Given the description of an element on the screen output the (x, y) to click on. 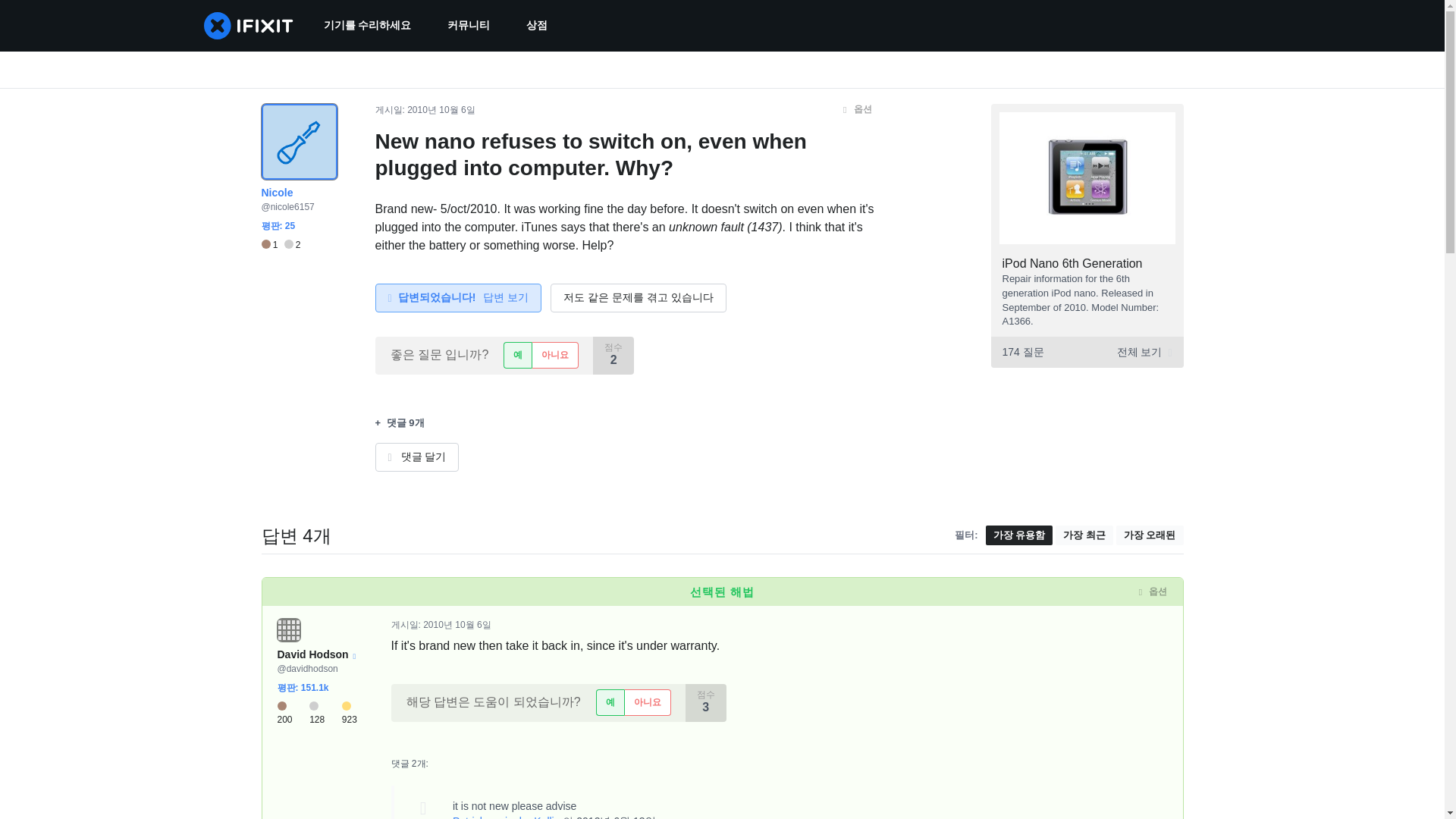
Wed, 06 Oct 2010 10:41:27 -0700 (456, 624)
Wed, 13 Jun 2012 07:29:40 -0700 (615, 816)
iPod Nano 6th Generation (1072, 263)
Wed, 06 Oct 2010 01:46:54 -0700 (440, 109)
1 2 (279, 245)
